Given the description of an element on the screen output the (x, y) to click on. 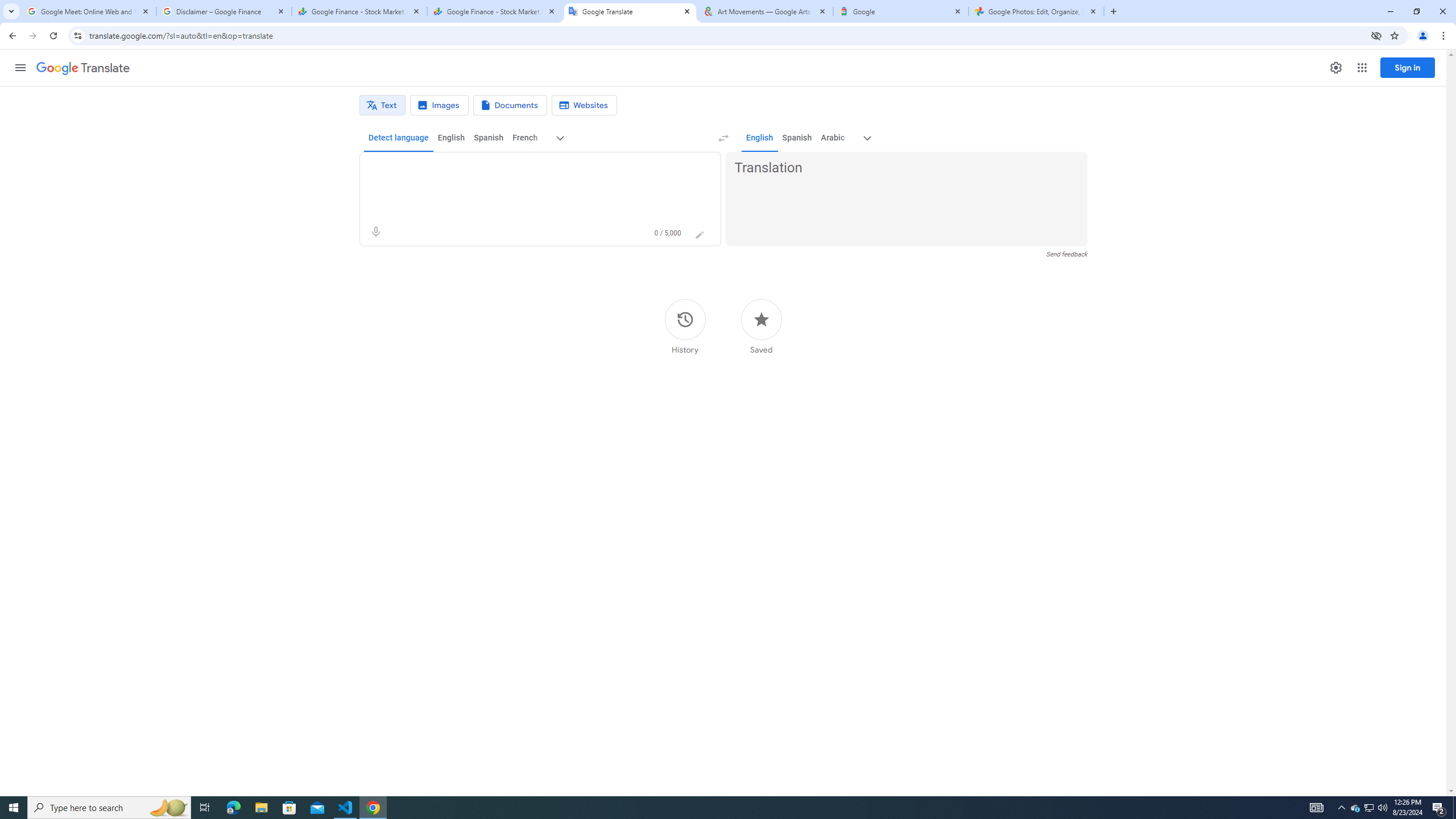
Image translation (439, 105)
Text translation (382, 105)
Swap languages (Ctrl+Shift+S) (723, 137)
More source languages (560, 137)
